Given the description of an element on the screen output the (x, y) to click on. 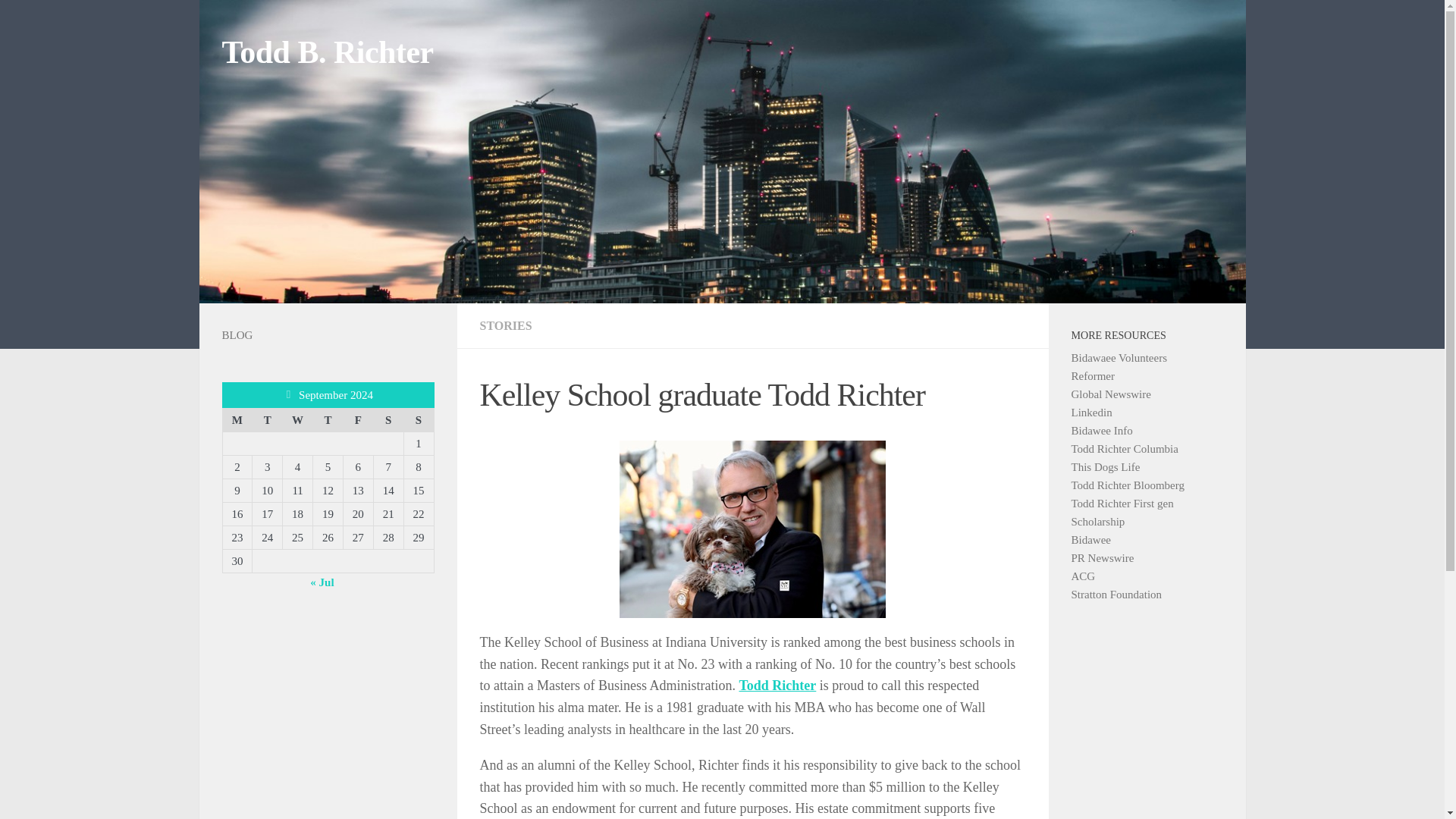
This Dogs Life (1105, 467)
BLOG (236, 335)
Saturday (387, 419)
Wednesday (297, 419)
Reformer (1091, 376)
PR Newswire (1102, 558)
Linkedin (1091, 412)
Global Newswire (1110, 394)
Todd Richter First gen Scholarship (1121, 512)
Todd Richter Columbia (1123, 449)
